Given the description of an element on the screen output the (x, y) to click on. 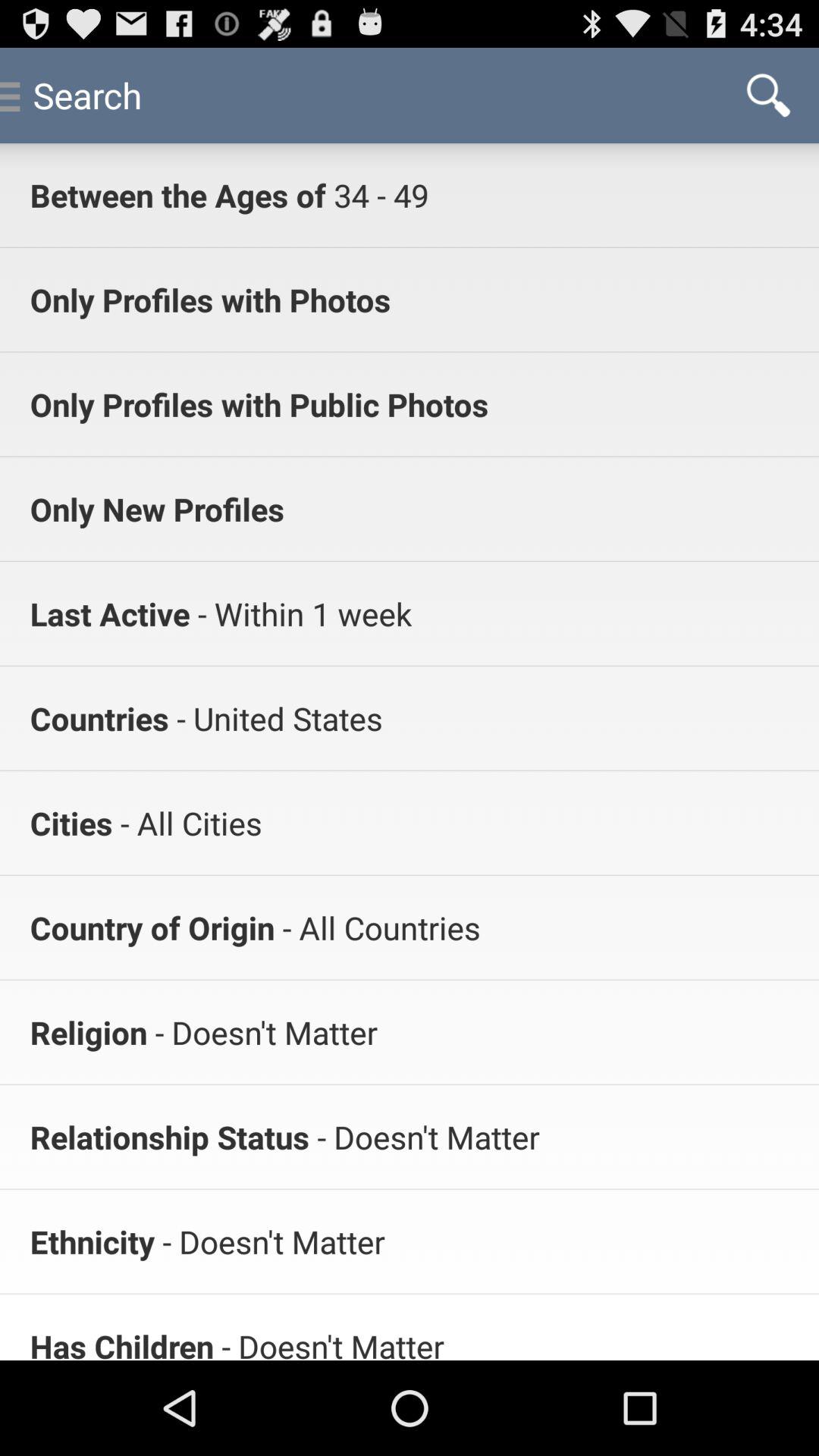
select the icon above  - doesn't matter item (377, 927)
